Given the description of an element on the screen output the (x, y) to click on. 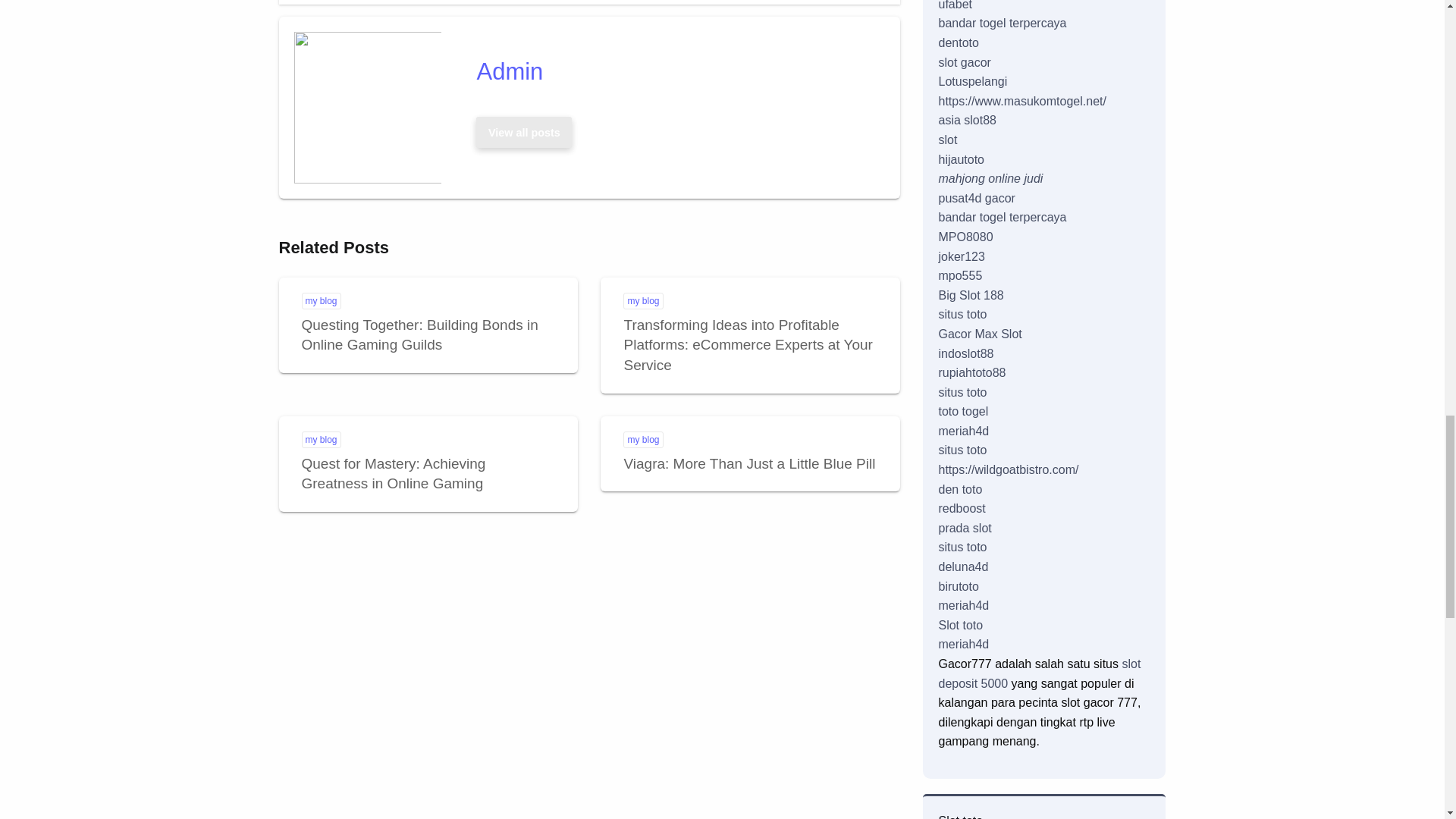
my blog (642, 300)
View all posts (523, 132)
my blog (320, 439)
my blog (642, 439)
Admin (674, 71)
Viagra: More Than Just a Little Blue Pill (749, 463)
Admin (674, 71)
View all posts (524, 132)
Admin (393, 473)
Questing Together: Building Bonds in Online Gaming Guilds (523, 132)
my blog (419, 334)
